Given the description of an element on the screen output the (x, y) to click on. 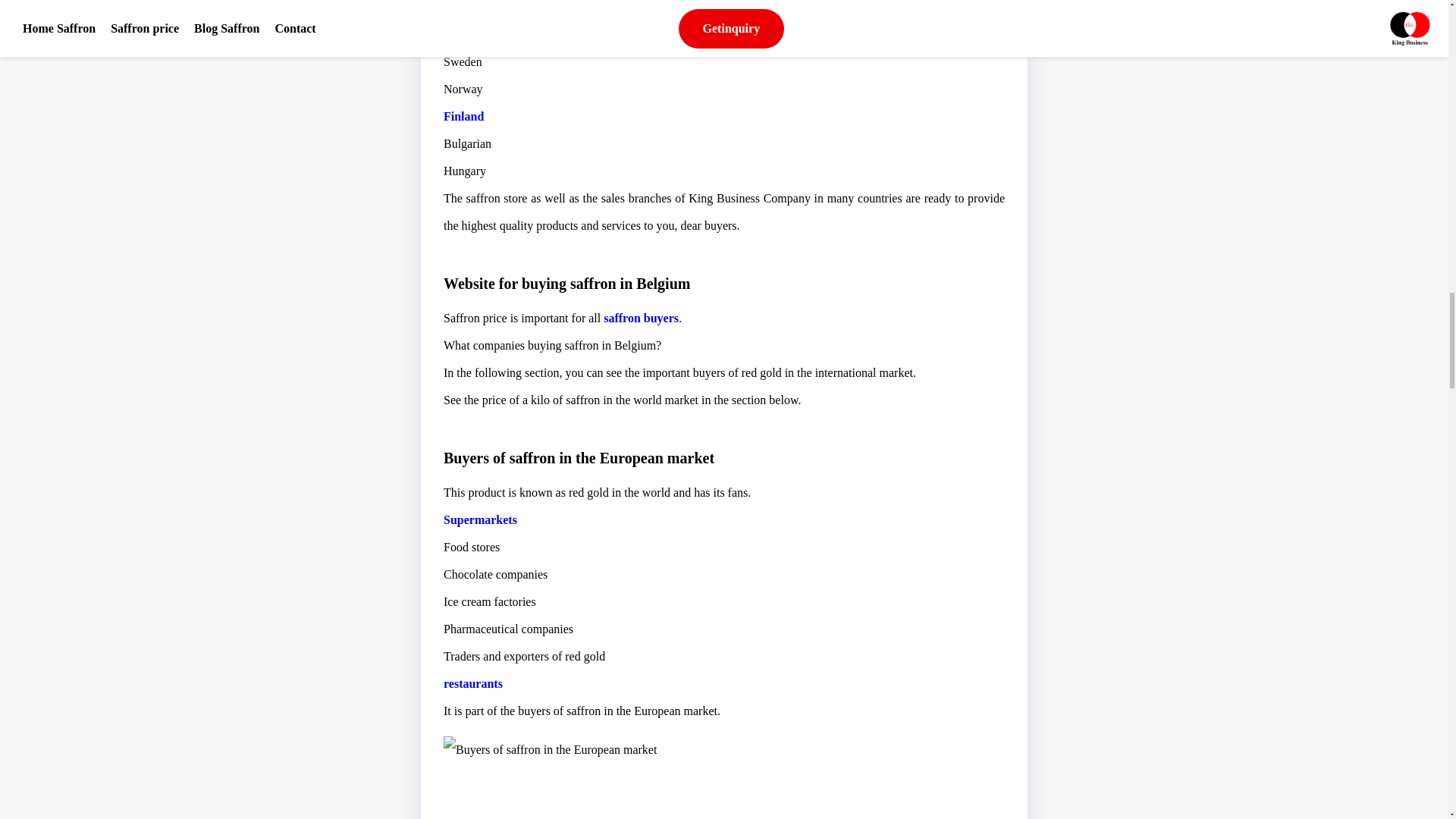
saffron buyers (641, 318)
Finland (463, 115)
Supermarkets (480, 519)
restaurants (473, 683)
